Given the description of an element on the screen output the (x, y) to click on. 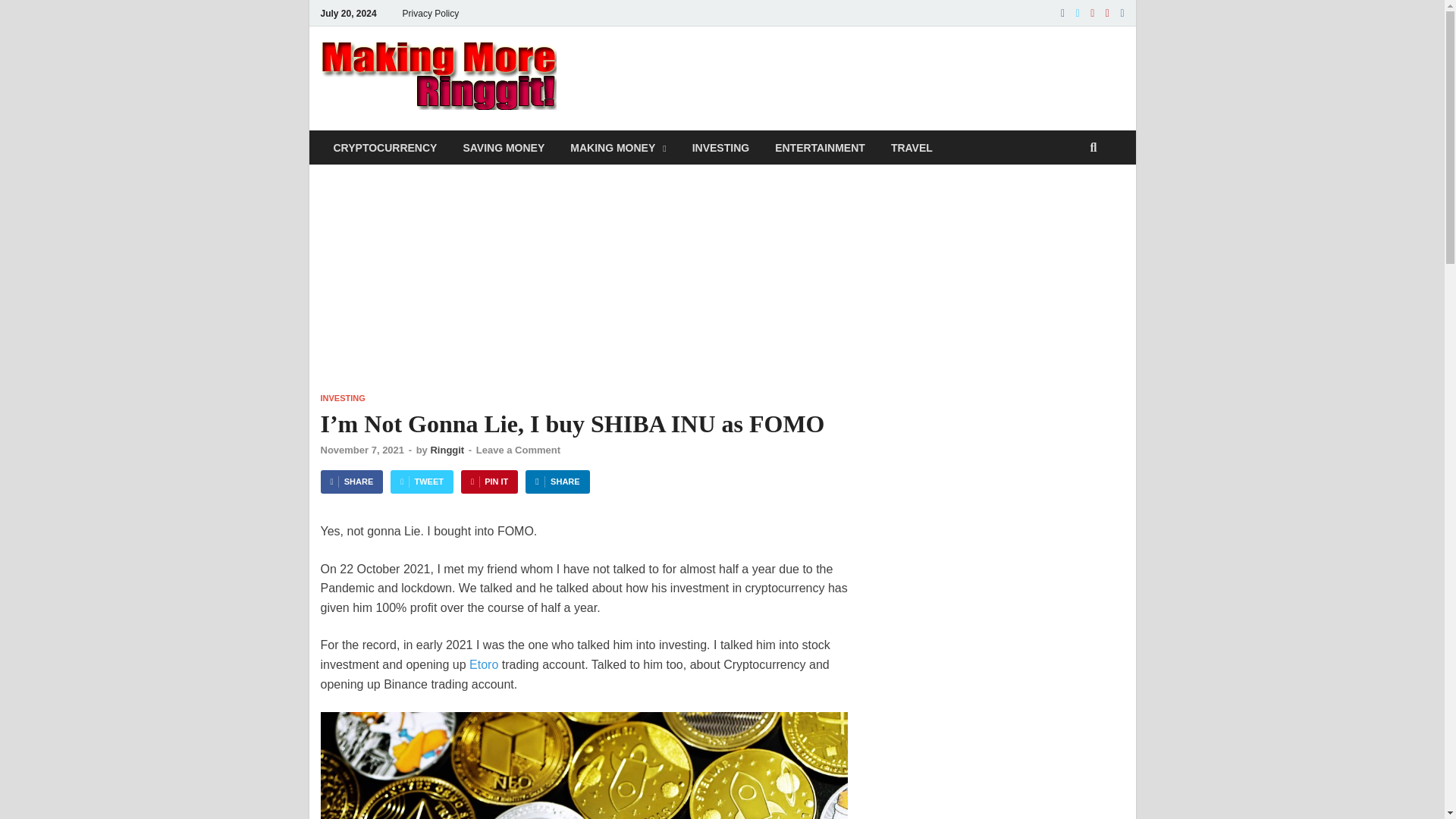
MAKING MONEY (617, 147)
Advertisement (848, 75)
Privacy Policy (430, 13)
CRYPTOCURRENCY (384, 147)
Advertisement (992, 726)
Making More Ringgit (701, 77)
INVESTING (342, 397)
PIN IT (489, 481)
TWEET (421, 481)
TRAVEL (910, 147)
Etoro (482, 664)
SHARE (557, 481)
ENTERTAINMENT (819, 147)
SAVING MONEY (503, 147)
